Given the description of an element on the screen output the (x, y) to click on. 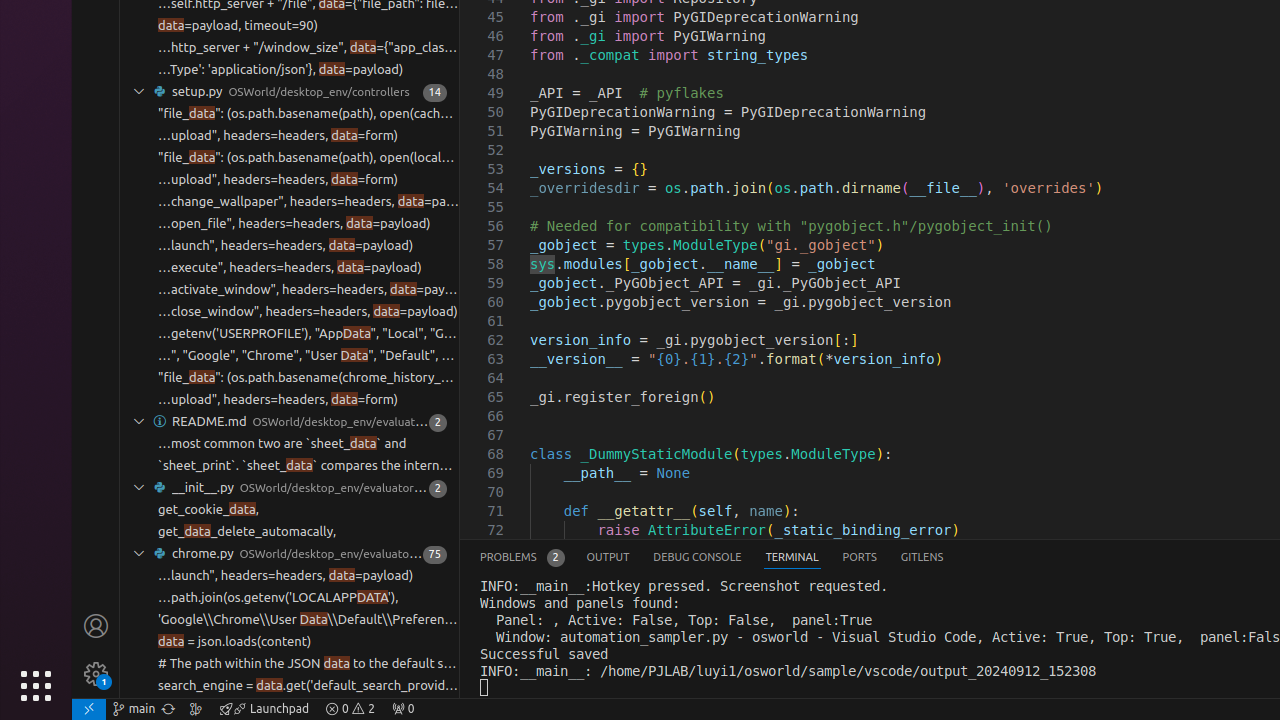
' get_data_delete_automacally,' at column 9 found data Element type: tree-item (289, 531)
' preference_file_path = env.controller.execute_python_command("""import os; print(os.path.join(os.getenv('LOCALAPPDATA'),' at column 122 found DATA Element type: tree-item (289, 597)
' search_engine = data.get('default_search_provider_data', {}).get('template_url_data', {}).get('short_name',' at column 25 found data Element type: tree-item (289, 685)
get_data_delete_automacally, Element type: link (247, 531)
' response = requests.post(self.http_server + "/list_directory", headers={'Content-Type': 'application/json'}, data=payload)' at column 126 found data Element type: tree-item (289, 69)
